Given the description of an element on the screen output the (x, y) to click on. 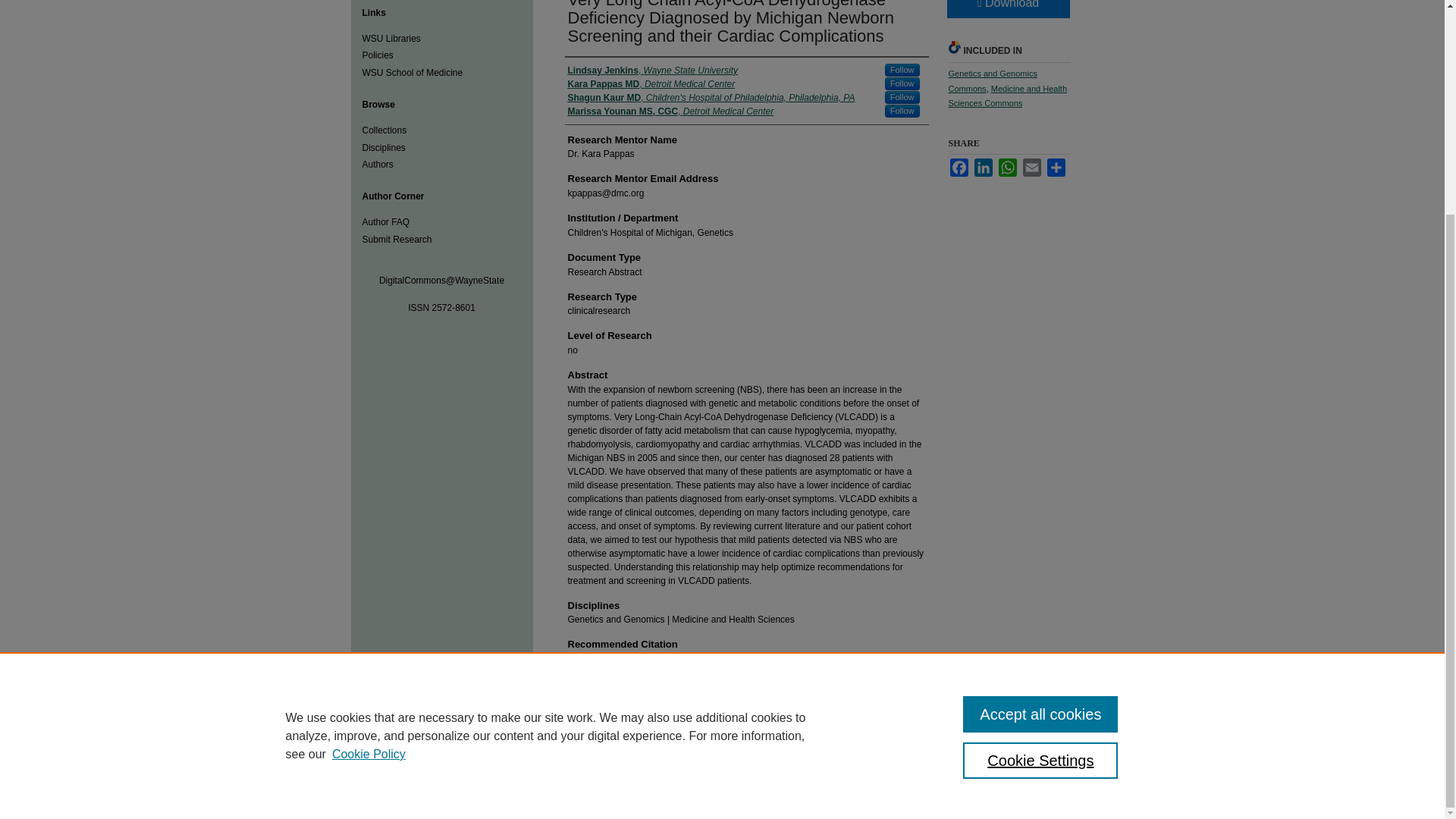
LinkedIn (982, 167)
Email (1031, 167)
Follow Kara Pappas MD (902, 83)
Download (1007, 9)
Follow (902, 83)
Kara Pappas MD, Detroit Medical Center (651, 83)
Follow Lindsay Jenkins (902, 69)
Follow Marissa Younan MS, CGC (902, 110)
WhatsApp (1006, 167)
Lindsay Jenkins, Wayne State University (652, 69)
Follow Shagun Kaur MD (902, 97)
Follow (902, 97)
Share (1055, 167)
Follow (902, 69)
